Given the description of an element on the screen output the (x, y) to click on. 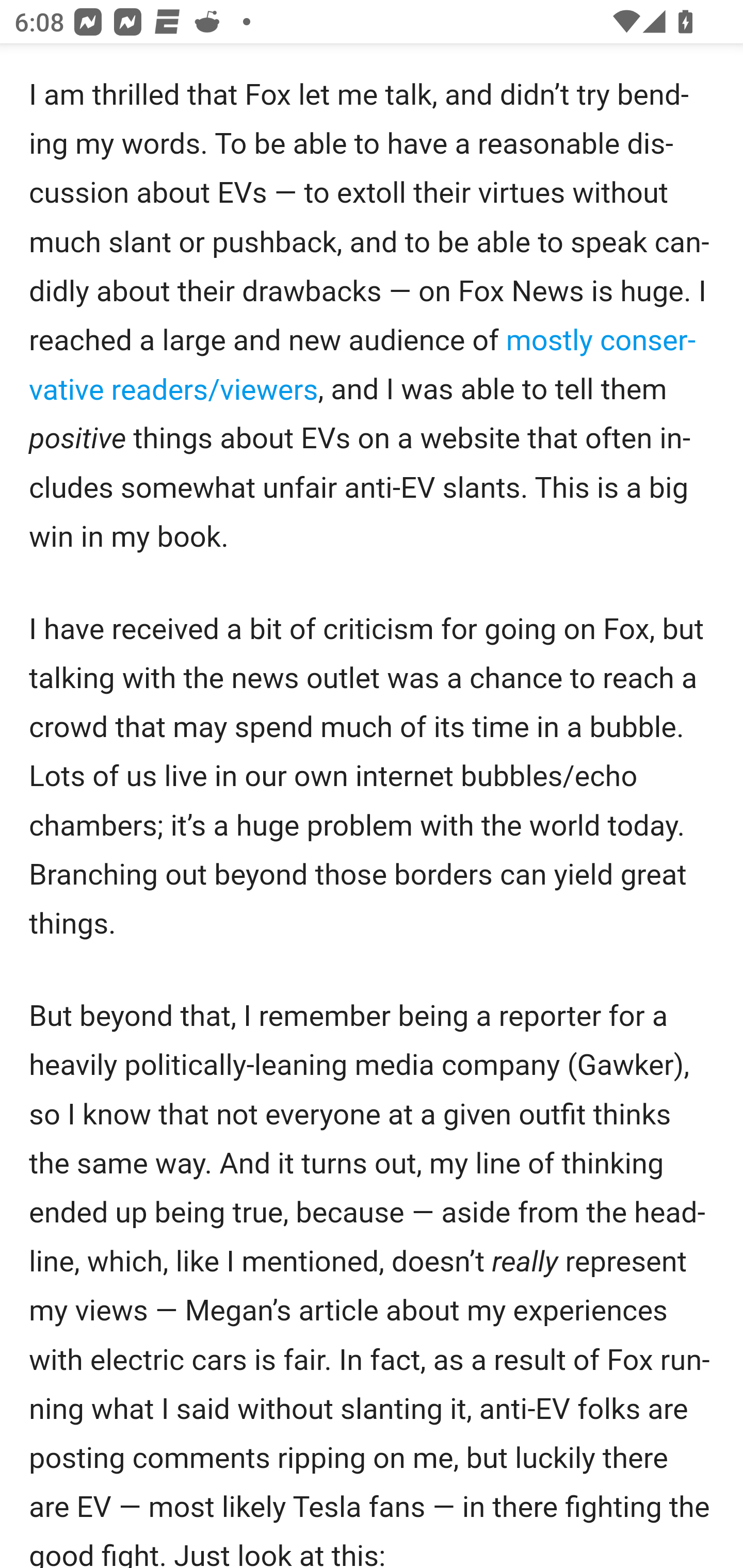
mostly conservative readers/viewers (362, 365)
